Given the description of an element on the screen output the (x, y) to click on. 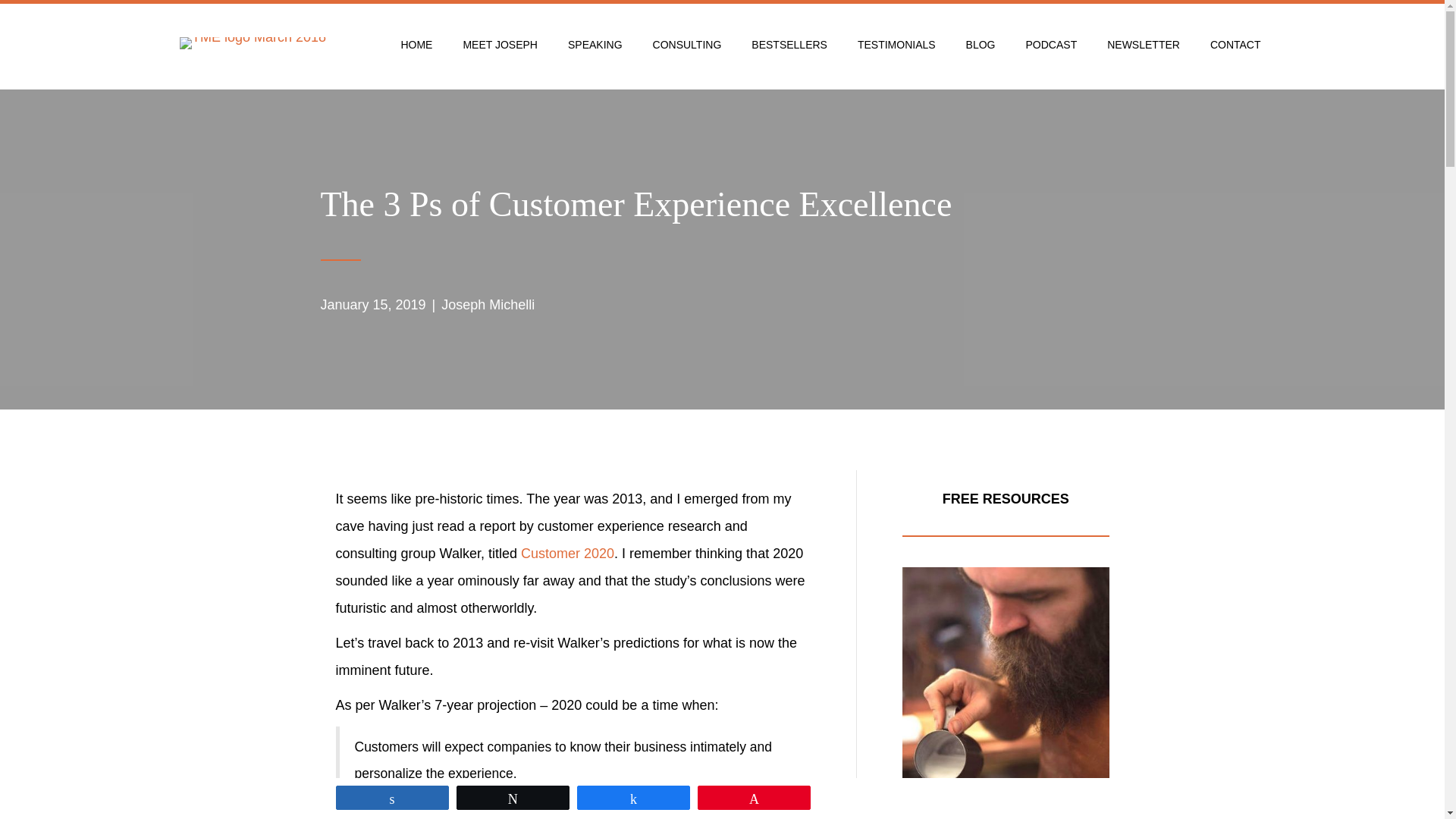
MEET JOSEPH (499, 44)
Joseph Michelli (487, 304)
TESTIMONIALS (896, 44)
BLOG (980, 44)
CONSULTING (686, 44)
NEWSLETTER (1143, 44)
PODCAST (1051, 44)
SPEAKING (595, 44)
Customer 2020 (567, 553)
BESTSELLERS (789, 44)
HOME (415, 44)
TME logo March 2018 (252, 42)
CONTACT (1235, 44)
